Given the description of an element on the screen output the (x, y) to click on. 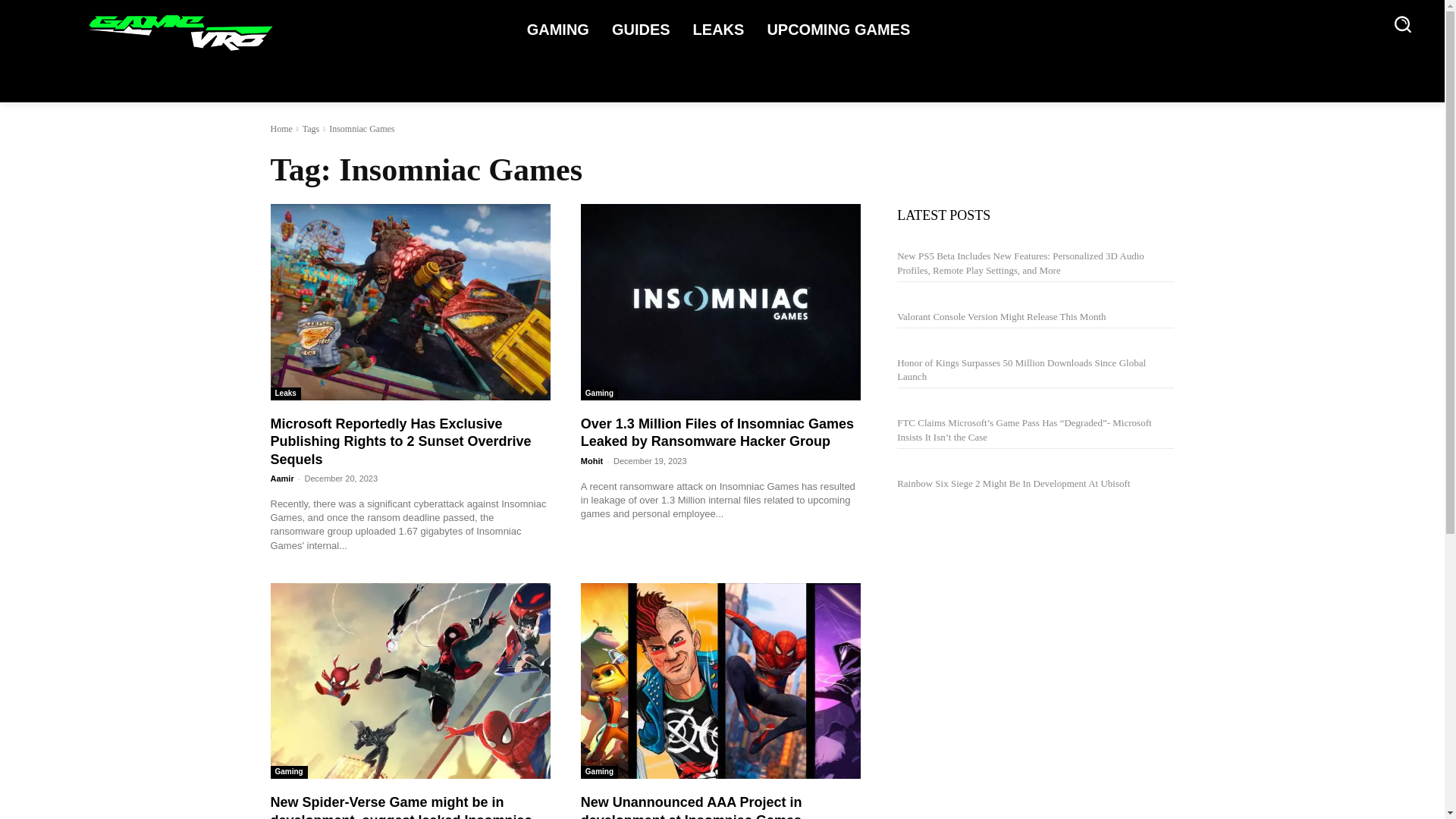
Gaming (288, 771)
Leaks (284, 393)
Aamir (281, 478)
GAMING (561, 23)
Home (280, 128)
UPCOMING GAMES (842, 23)
GUIDES (644, 23)
Rainbow Six Siege 2 Might Be In Development At Ubisoft (1012, 482)
Valorant Console Version Might Release This Month (1000, 316)
Gaming (598, 393)
